Given the description of an element on the screen output the (x, y) to click on. 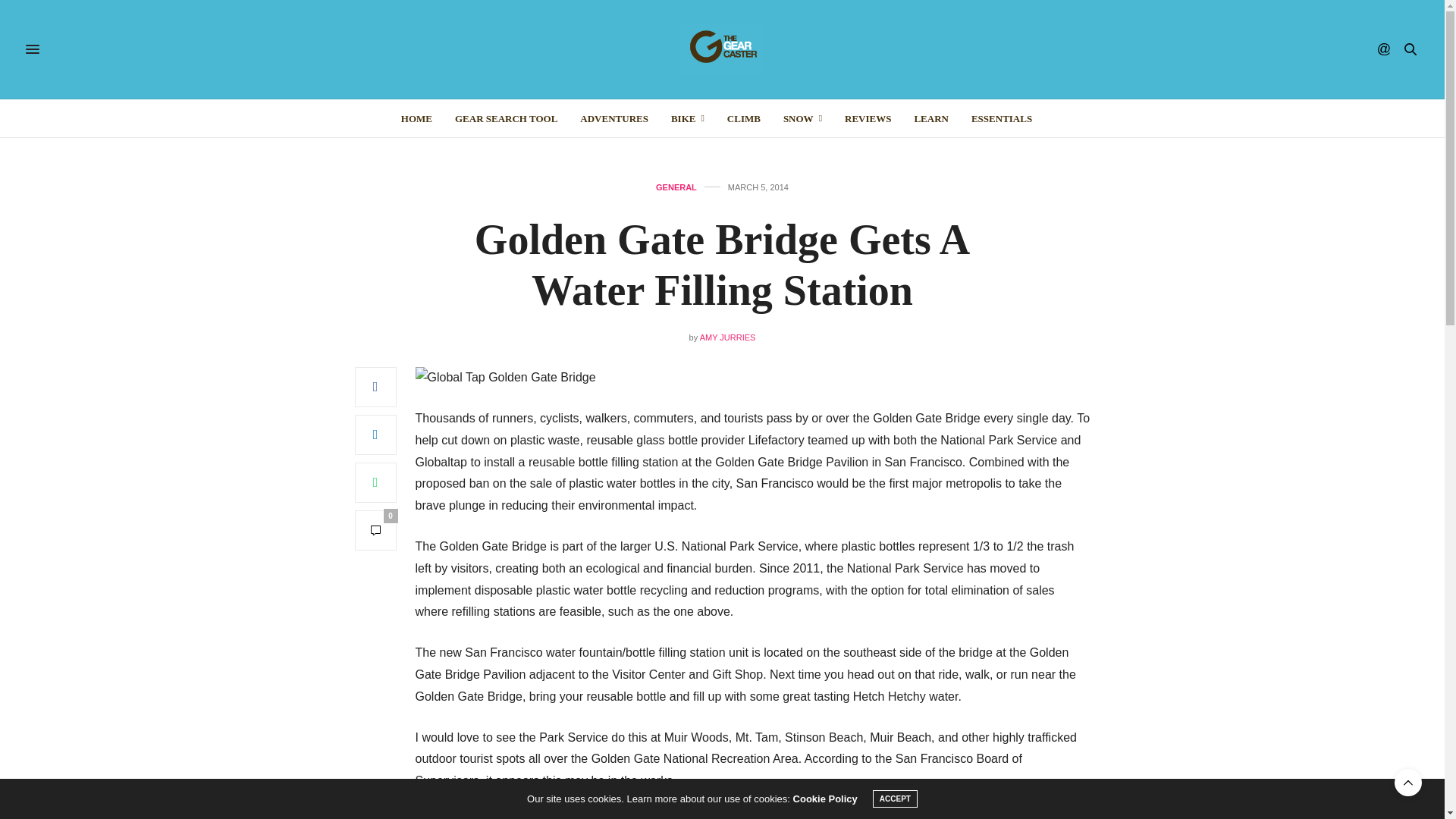
Scroll To Top (1408, 782)
Global Tap Golden Gate Bridge (661, 377)
The GearCaster (721, 49)
CLIMB (743, 118)
Posts by Amy Jurries (727, 337)
BIKE (687, 118)
ADVENTURES (613, 118)
GEAR SEARCH TOOL (505, 118)
HOME (416, 118)
LEARN (931, 118)
SNOW (802, 118)
REVIEWS (867, 118)
